Given the description of an element on the screen output the (x, y) to click on. 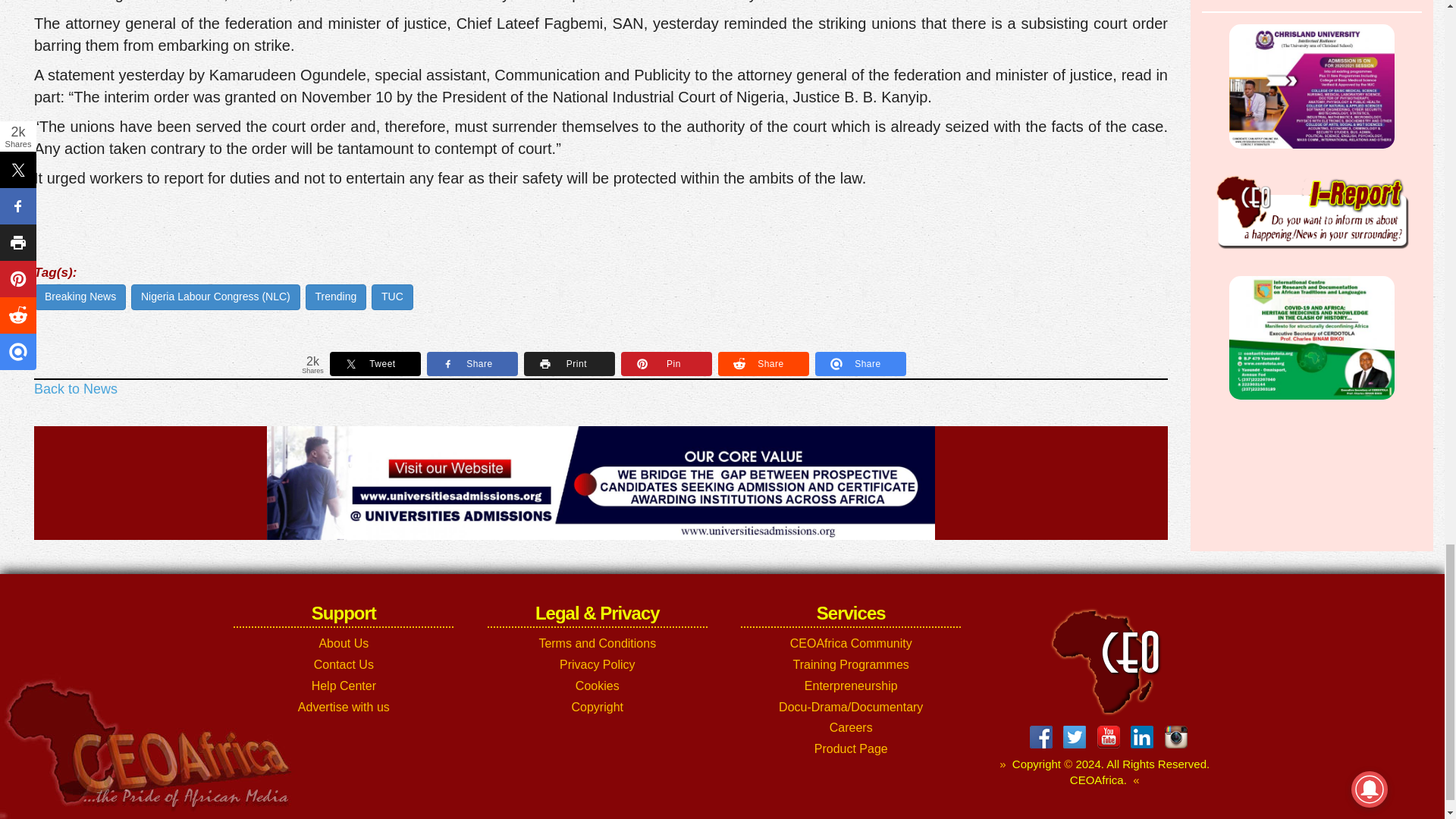
TUC (392, 296)
TUC (392, 297)
Breaking News (79, 296)
Trending (335, 297)
Back to News (75, 388)
Breaking News (79, 297)
Trending (336, 296)
